Given the description of an element on the screen output the (x, y) to click on. 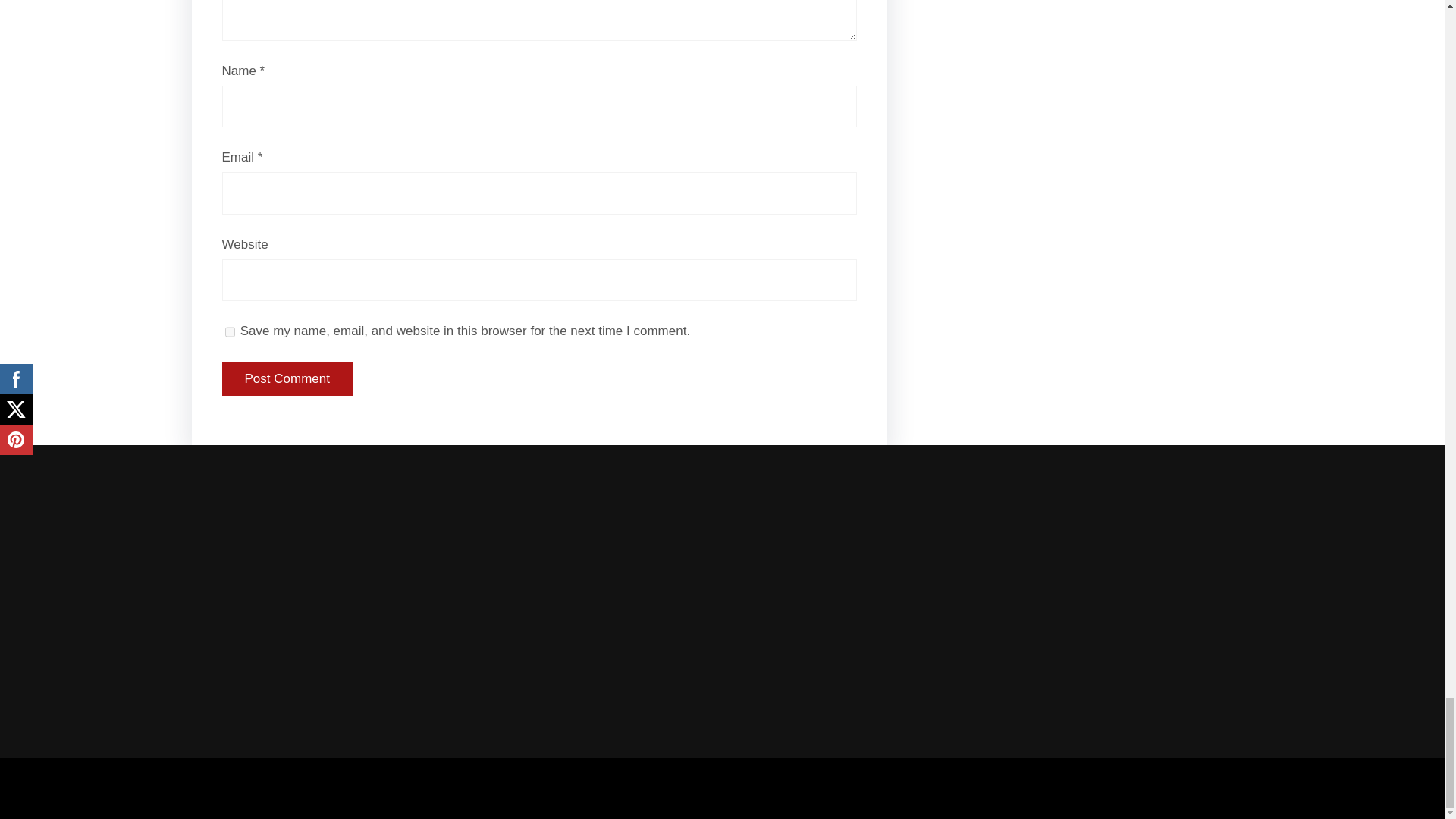
Post Comment (286, 378)
